Given the description of an element on the screen output the (x, y) to click on. 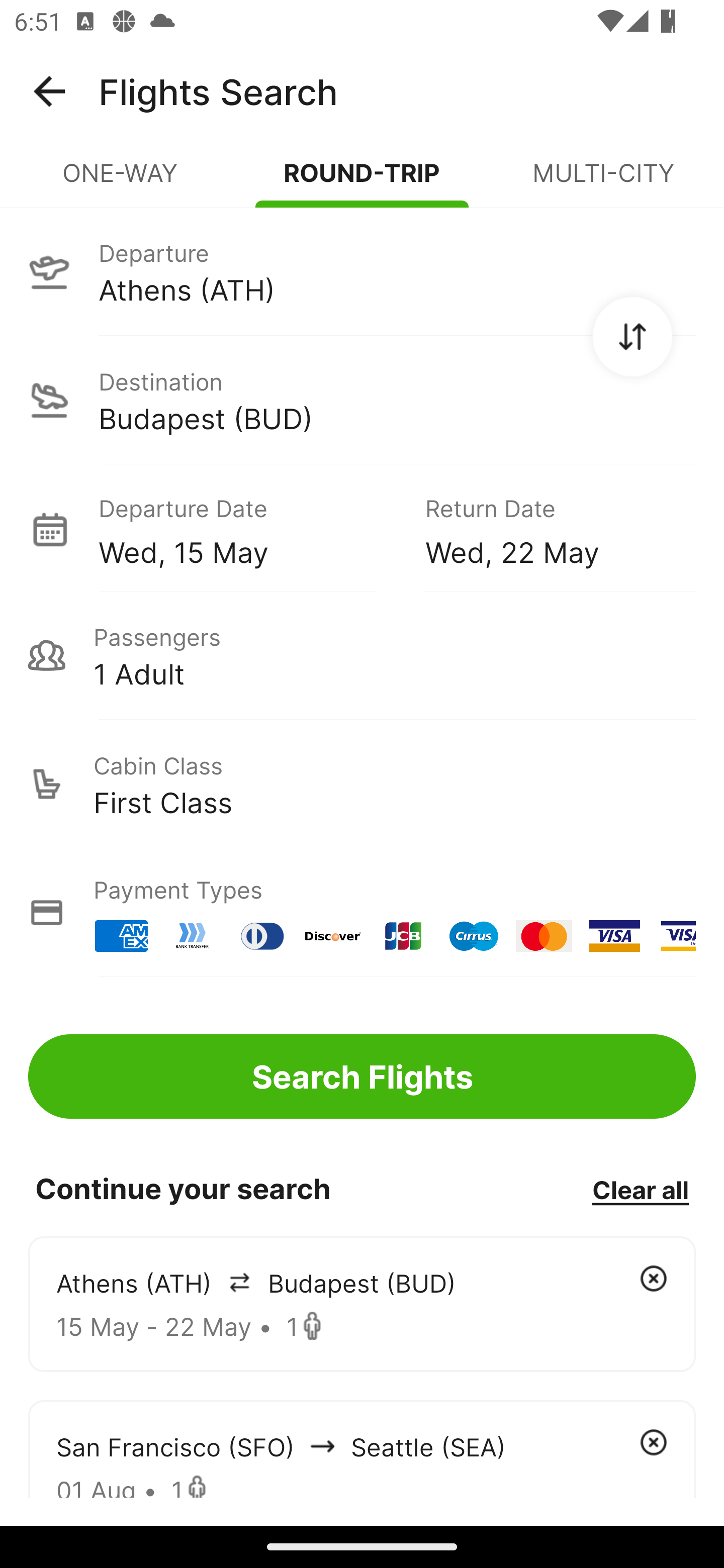
ONE-WAY (120, 180)
ROUND-TRIP (361, 180)
MULTI-CITY (603, 180)
Departure Athens (ATH) (362, 270)
Destination Budapest (BUD) (362, 400)
Departure Date Wed, 15 May (247, 528)
Return Date Wed, 22 May (546, 528)
Passengers 1 Adult (362, 655)
Cabin Class First Class (362, 783)
Payment Types (362, 912)
Search Flights (361, 1075)
Clear all (640, 1189)
